Given the description of an element on the screen output the (x, y) to click on. 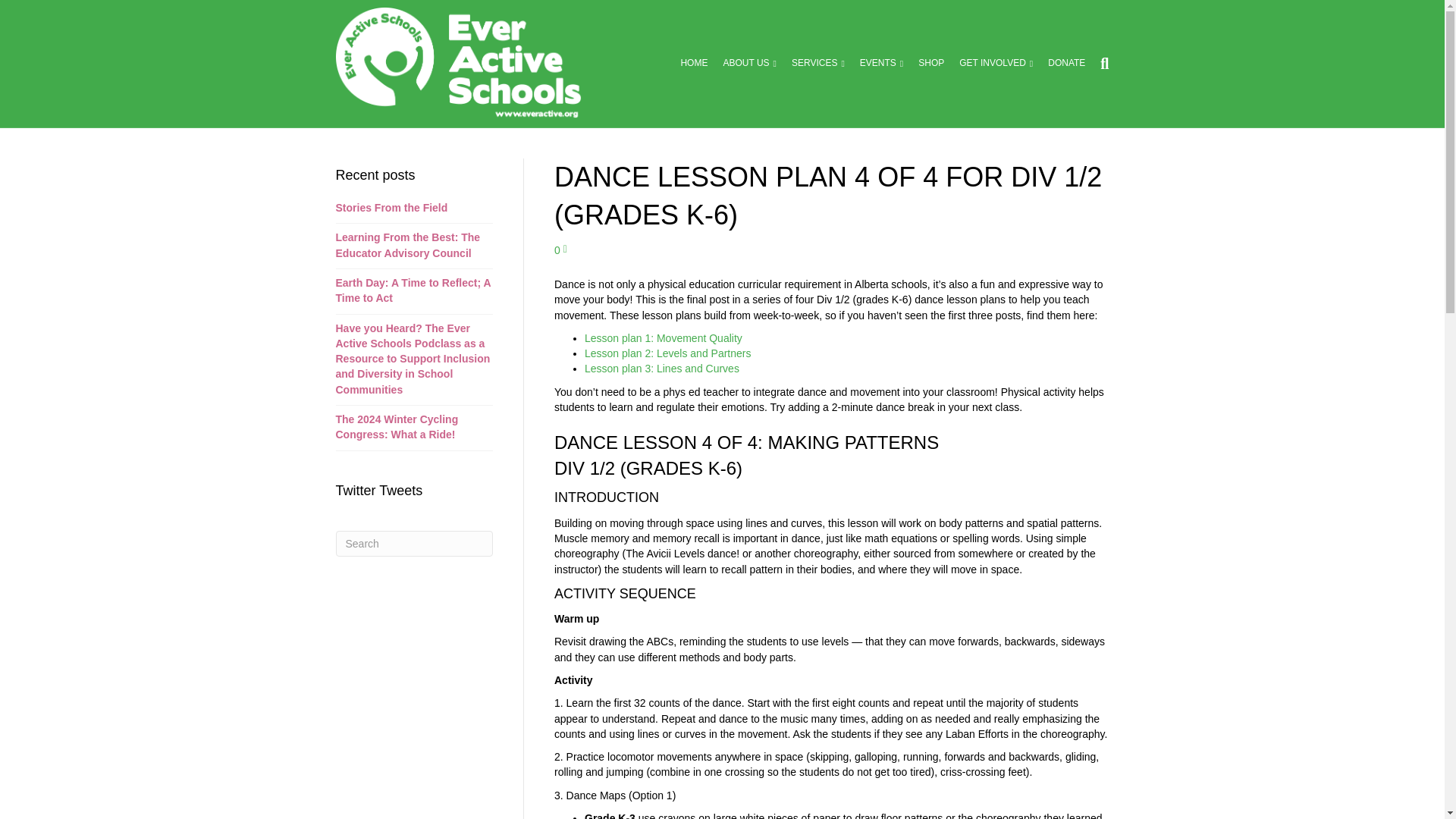
DONATE (1067, 63)
GET INVOLVED (996, 63)
ABOUT US (749, 63)
HOME (693, 63)
The 2024 Winter Cycling Congress: What a Ride! (396, 426)
SHOP (931, 63)
Earth Day: A Time to Reflect; A Time to Act (412, 289)
Learning From the Best: The Educator Advisory Council (407, 244)
Stories From the Field (390, 207)
